Given the description of an element on the screen output the (x, y) to click on. 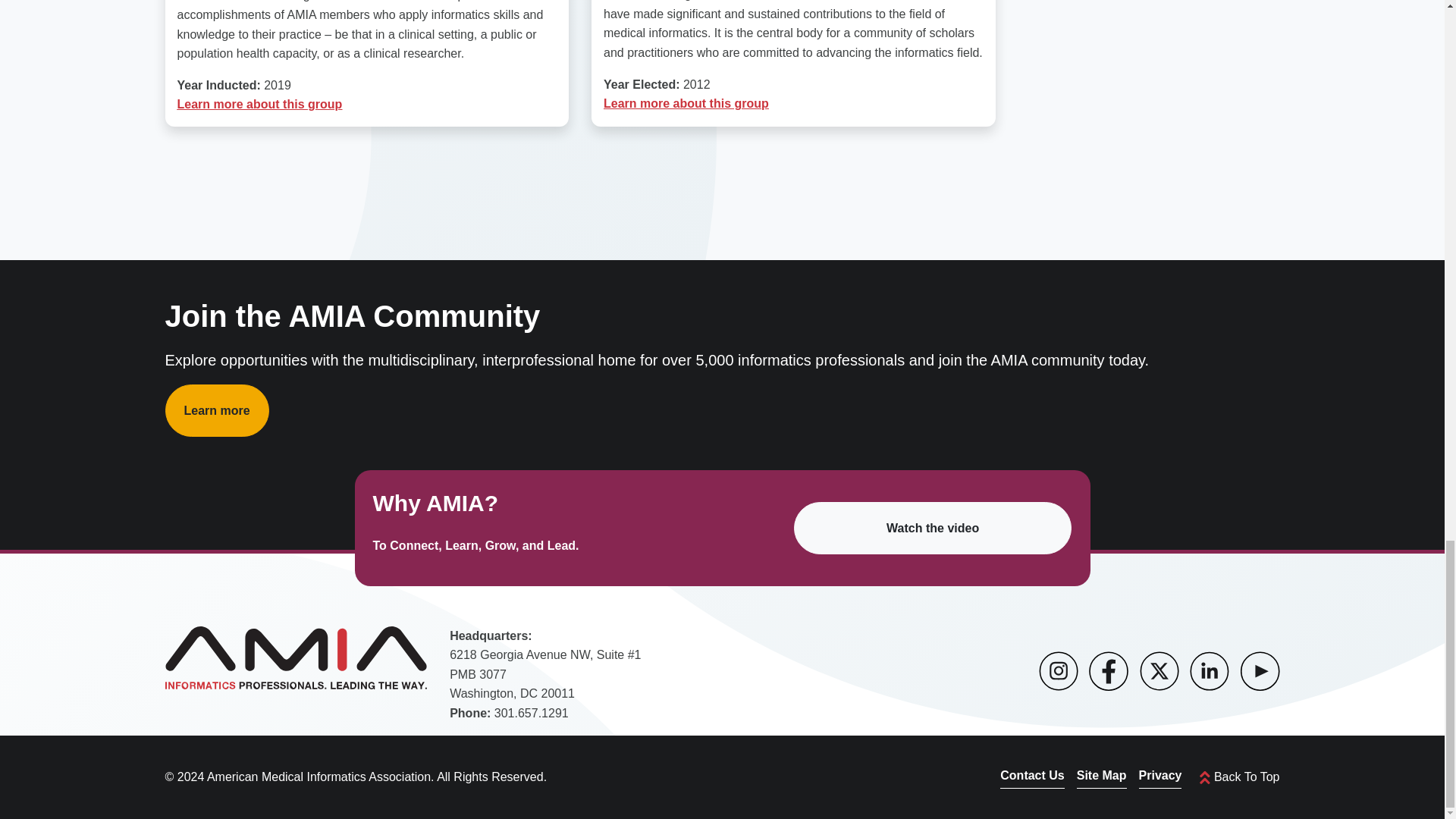
Learn more (217, 410)
